Given the description of an element on the screen output the (x, y) to click on. 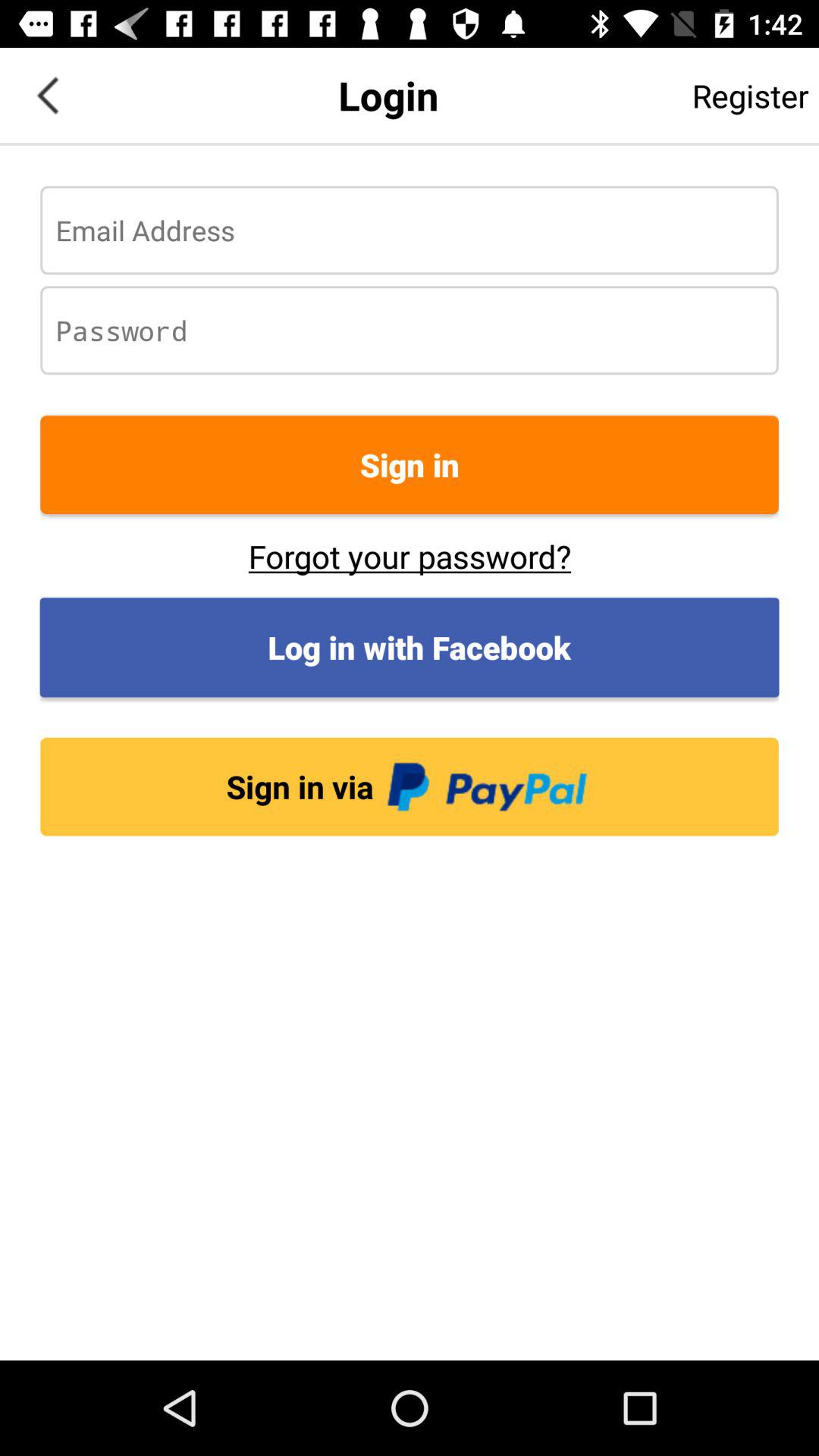
enter email address (409, 230)
